Given the description of an element on the screen output the (x, y) to click on. 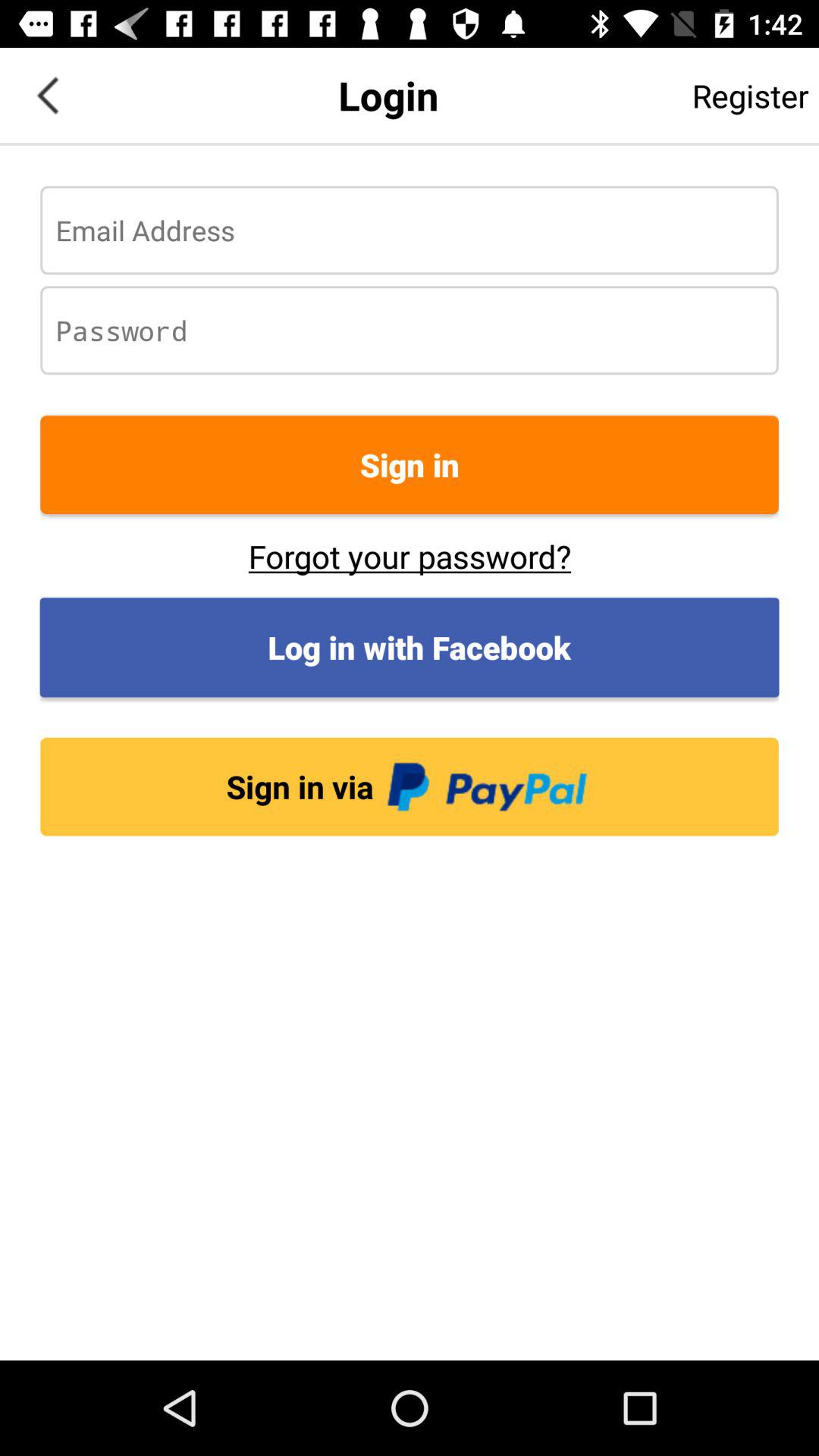
enter email address (409, 230)
